Given the description of an element on the screen output the (x, y) to click on. 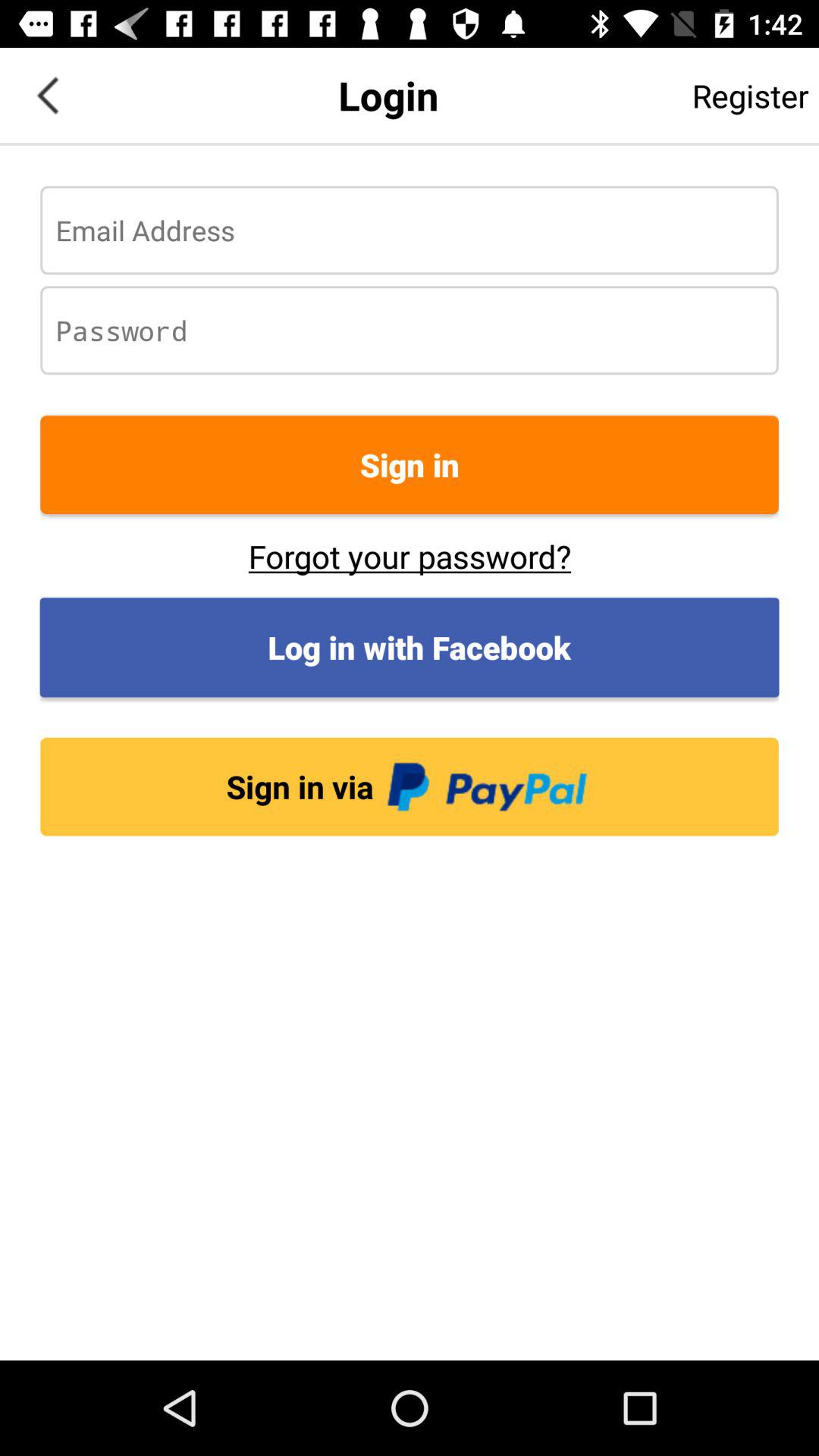
enter email address (409, 230)
